Given the description of an element on the screen output the (x, y) to click on. 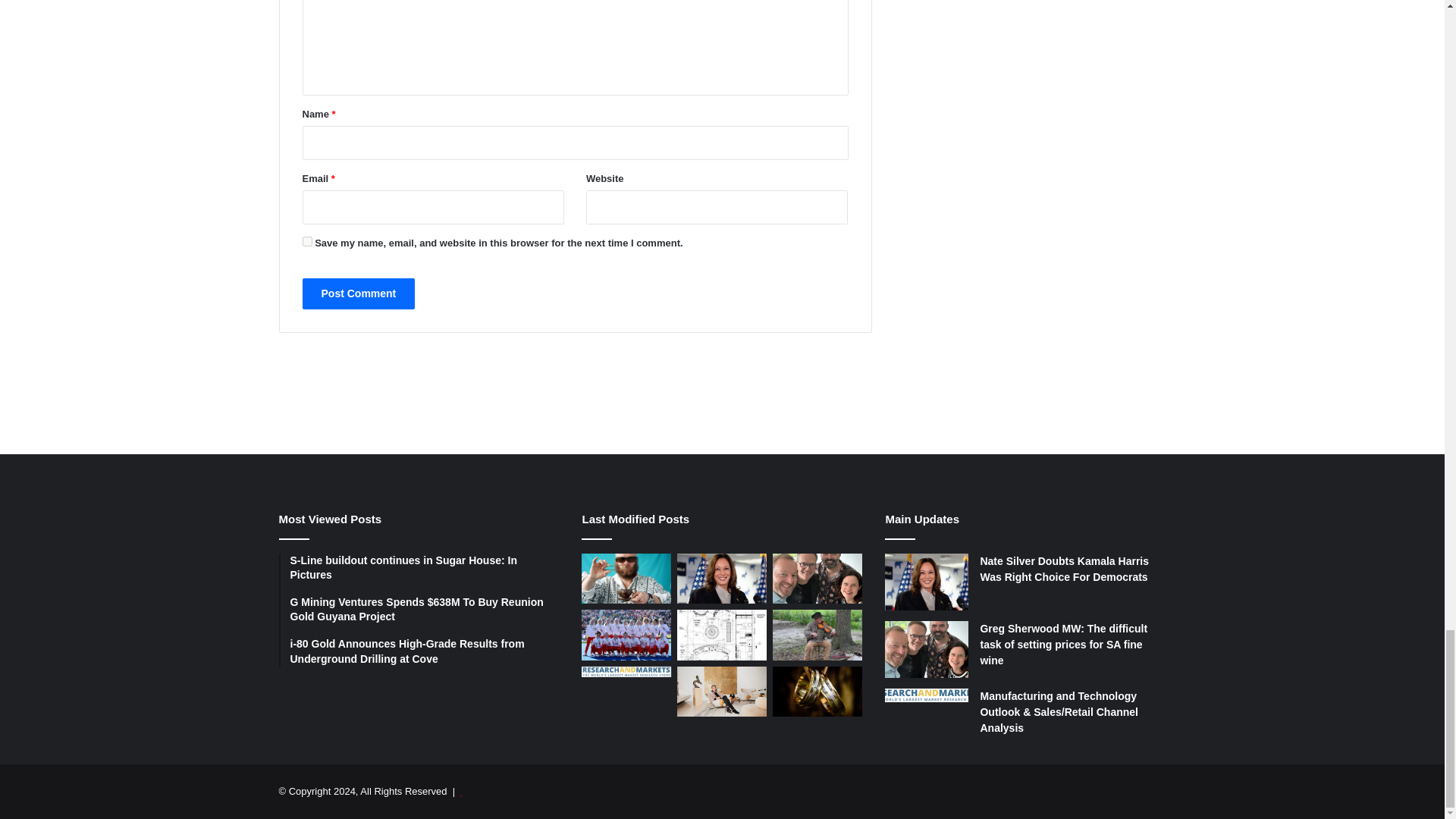
yes (306, 241)
Post Comment (357, 293)
